Given the description of an element on the screen output the (x, y) to click on. 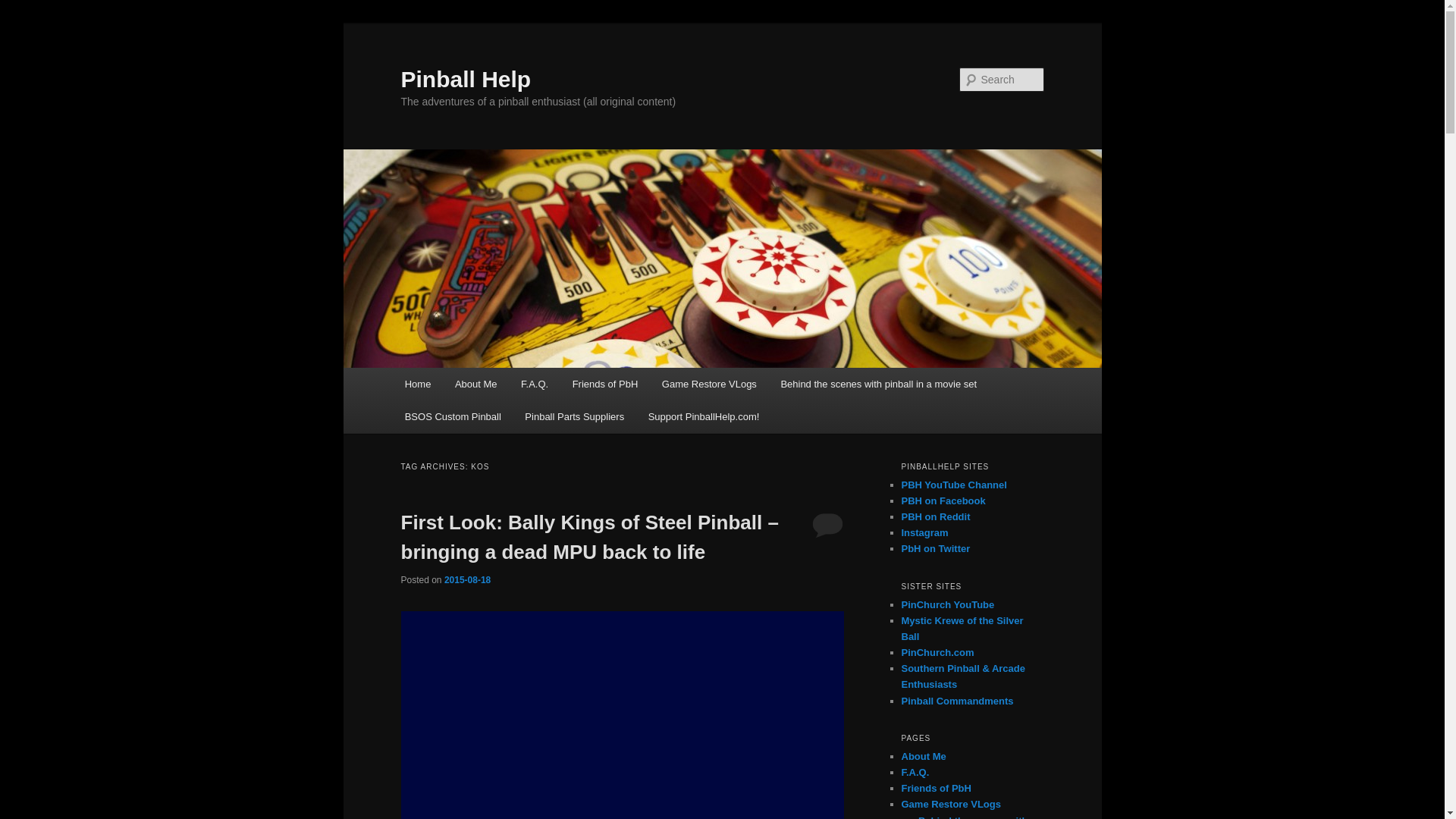
BSOS Custom Pinball (453, 416)
Game Restore VLogs (708, 383)
Friends of PbH (936, 787)
Search (24, 8)
PBH on Reddit (935, 516)
Mystic Krewe of the Silver Ball (962, 628)
PBH YouTube Channel (953, 484)
About Me (922, 756)
PinChurch.com (937, 652)
Pinball Help (465, 78)
